Given the description of an element on the screen output the (x, y) to click on. 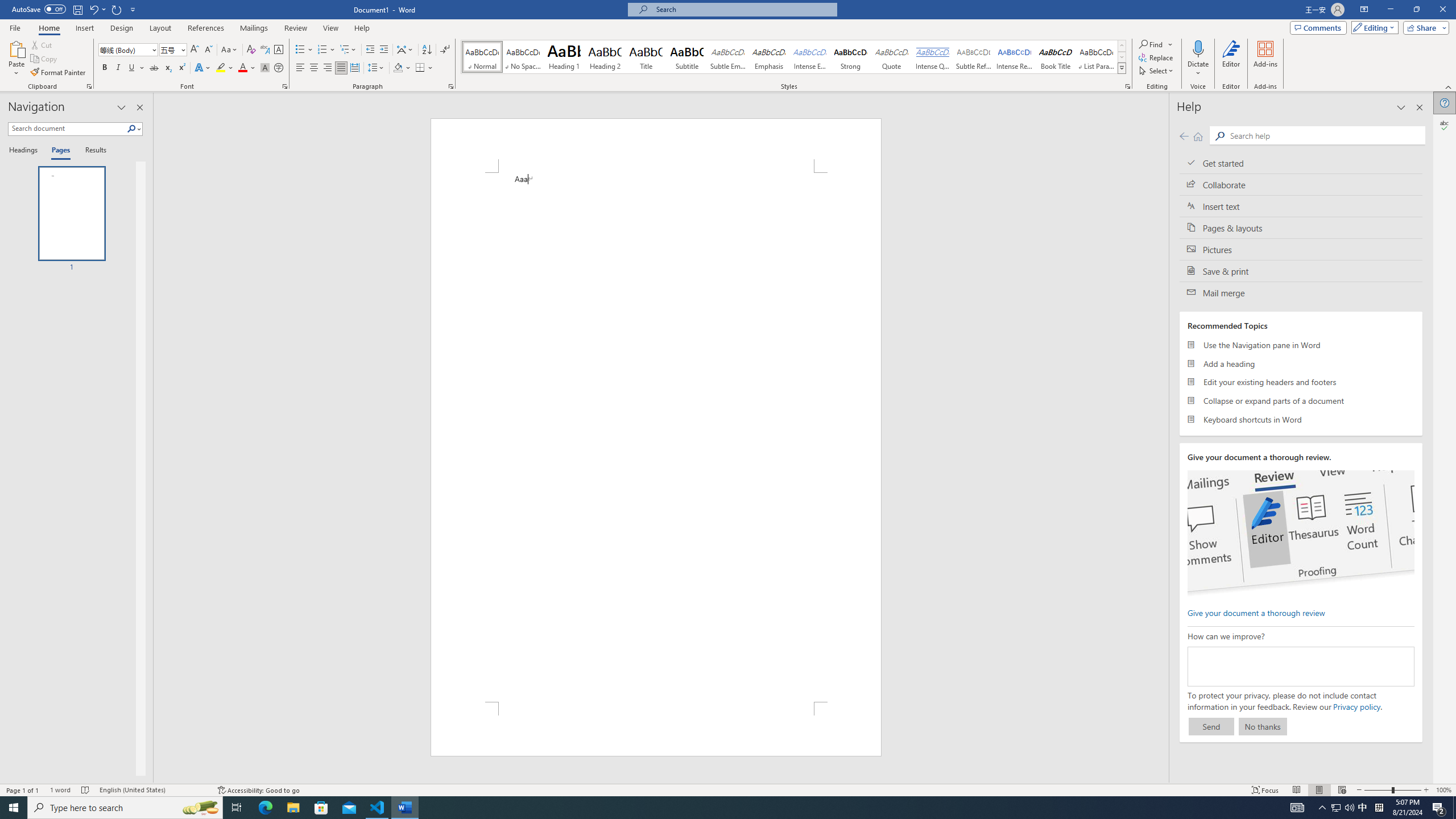
Undo Increase Indent (96, 9)
Text Highlight Color Yellow (220, 67)
Edit your existing headers and footers (1300, 381)
Clear Formatting (250, 49)
Character Border (278, 49)
Book Title (1055, 56)
Select (1157, 69)
Line and Paragraph Spacing (376, 67)
Intense Reference (1014, 56)
Use the Navigation pane in Word (1300, 344)
Change Case (229, 49)
Get started (1300, 162)
Subtle Reference (973, 56)
Pages (59, 150)
